Given the description of an element on the screen output the (x, y) to click on. 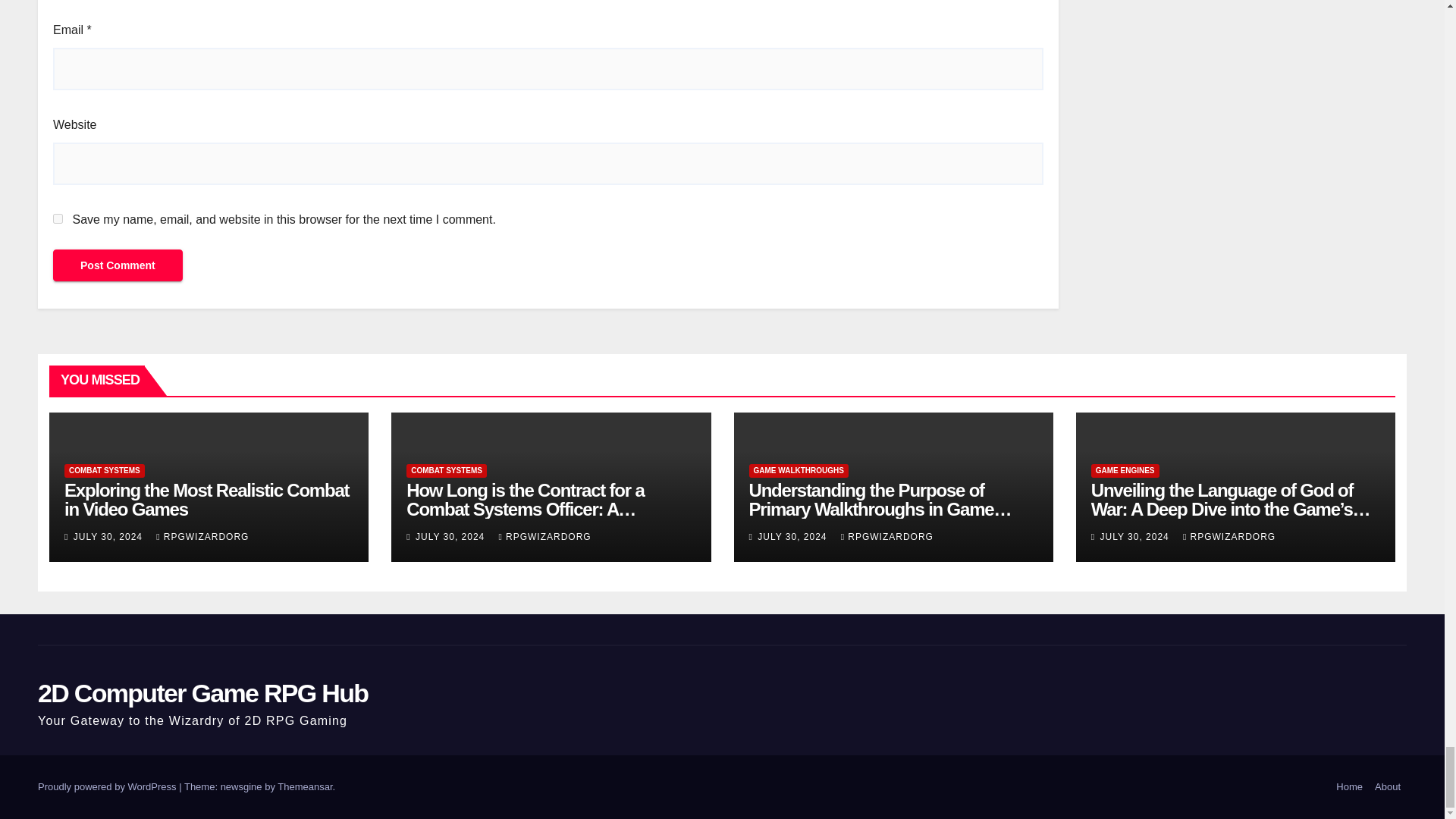
Post Comment (117, 265)
yes (57, 218)
